Given the description of an element on the screen output the (x, y) to click on. 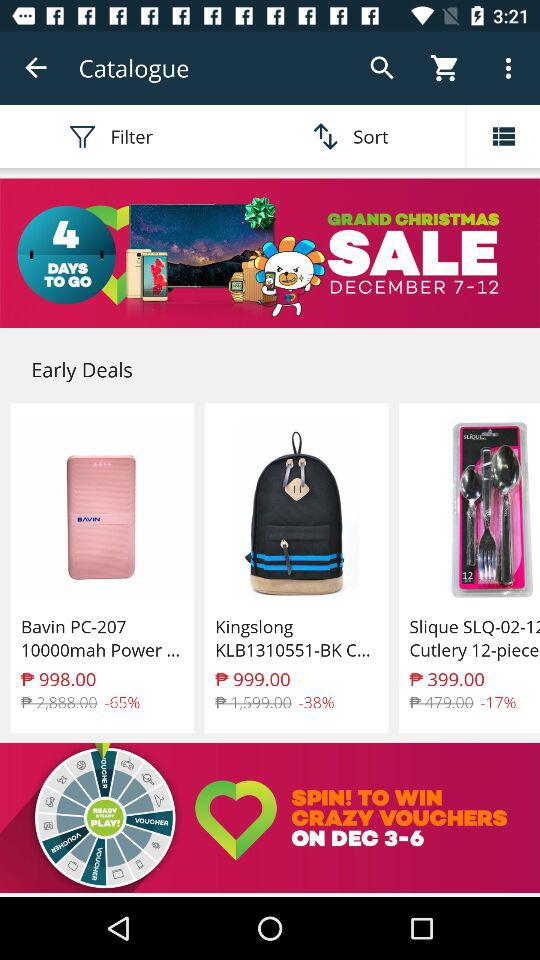
shop sale (270, 253)
